Given the description of an element on the screen output the (x, y) to click on. 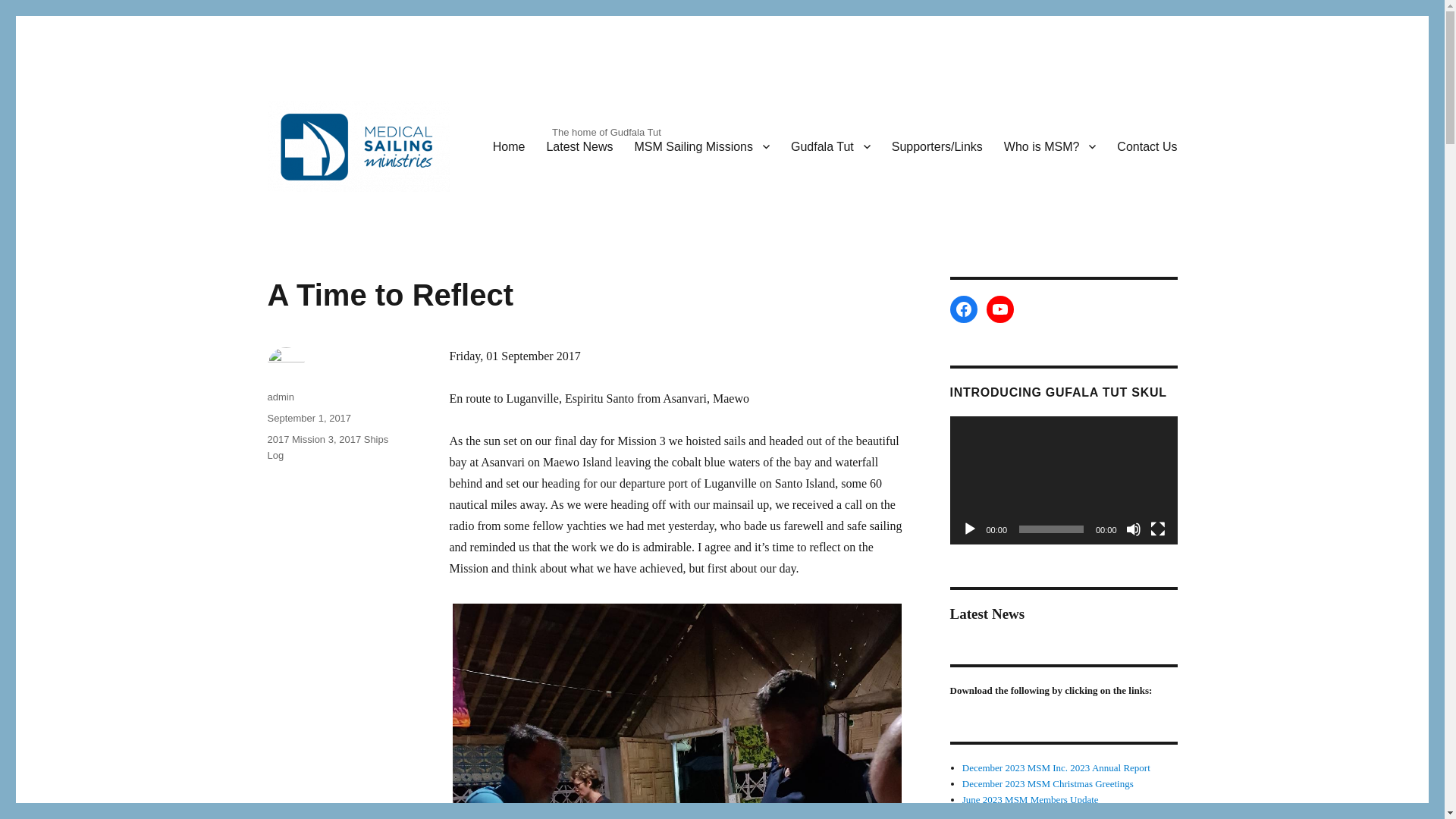
Fullscreen (1157, 529)
Home (508, 146)
Latest News (579, 146)
Mute (1132, 529)
Play (968, 529)
Village feast Asanvari (676, 709)
MSM Sailing Missions (702, 146)
